Given the description of an element on the screen output the (x, y) to click on. 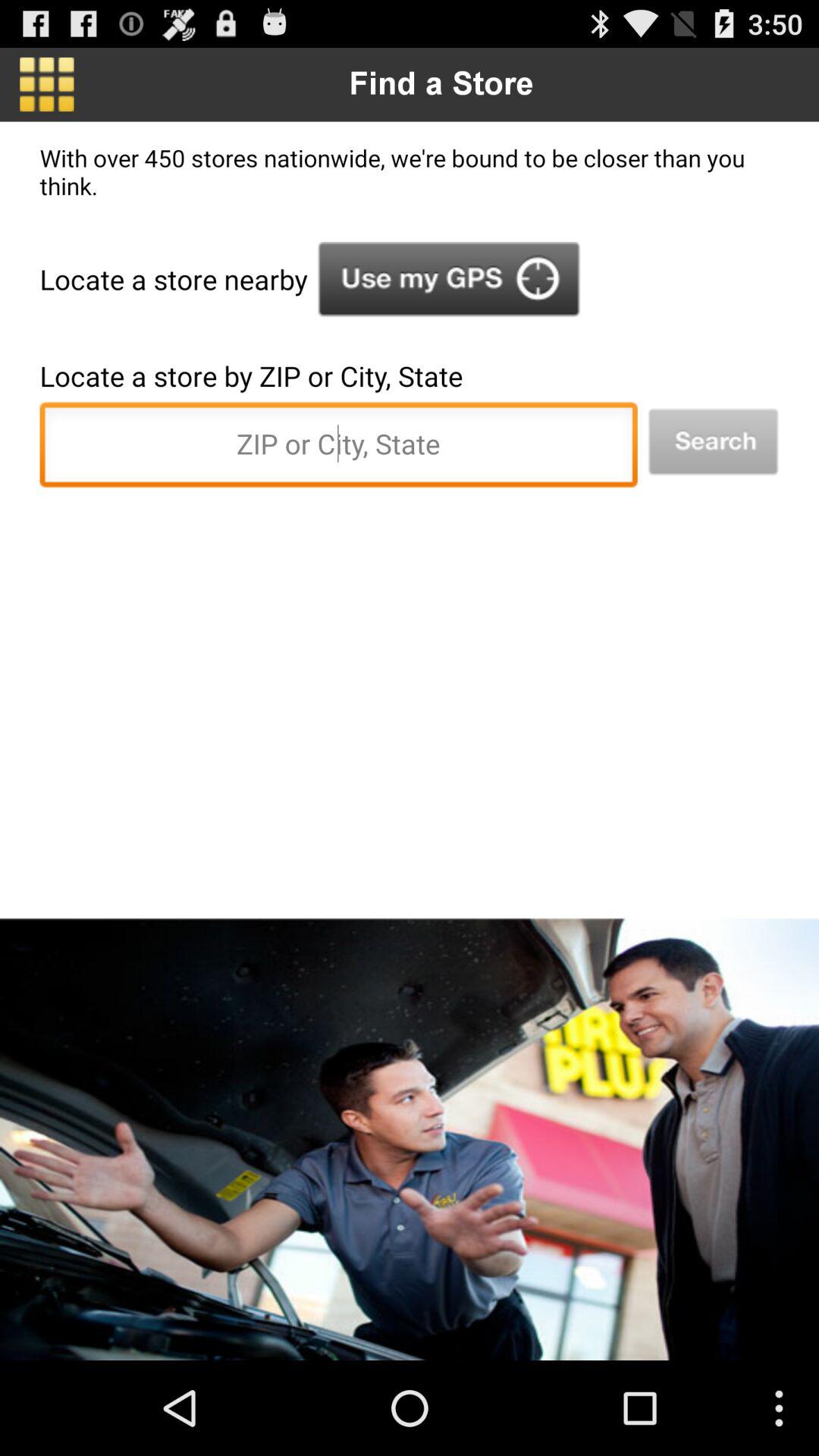
select the icon at the top right corner (713, 442)
